Given the description of an element on the screen output the (x, y) to click on. 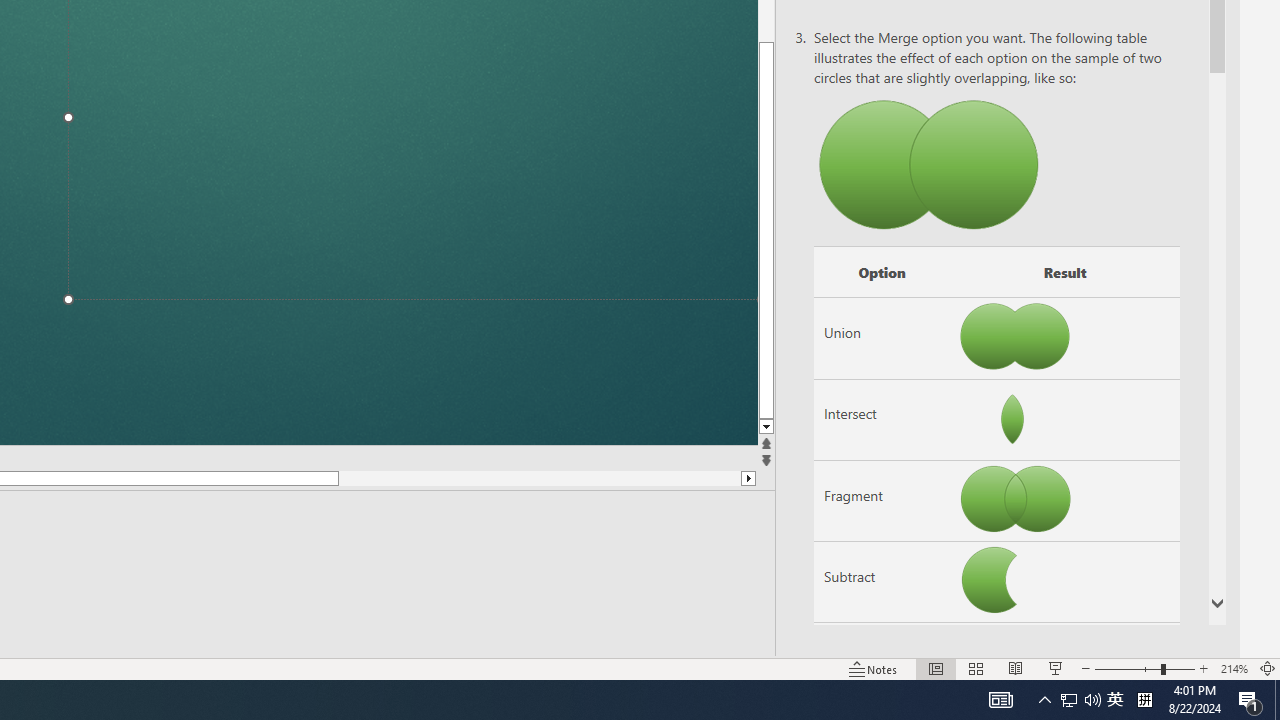
Q2790: 100% (1069, 699)
Show desktop (1092, 699)
Union (1277, 699)
AutomationID: 4105 (881, 338)
Action Center, 1 new notification (1000, 699)
Combine (1250, 699)
Page down (881, 663)
